Given the description of an element on the screen output the (x, y) to click on. 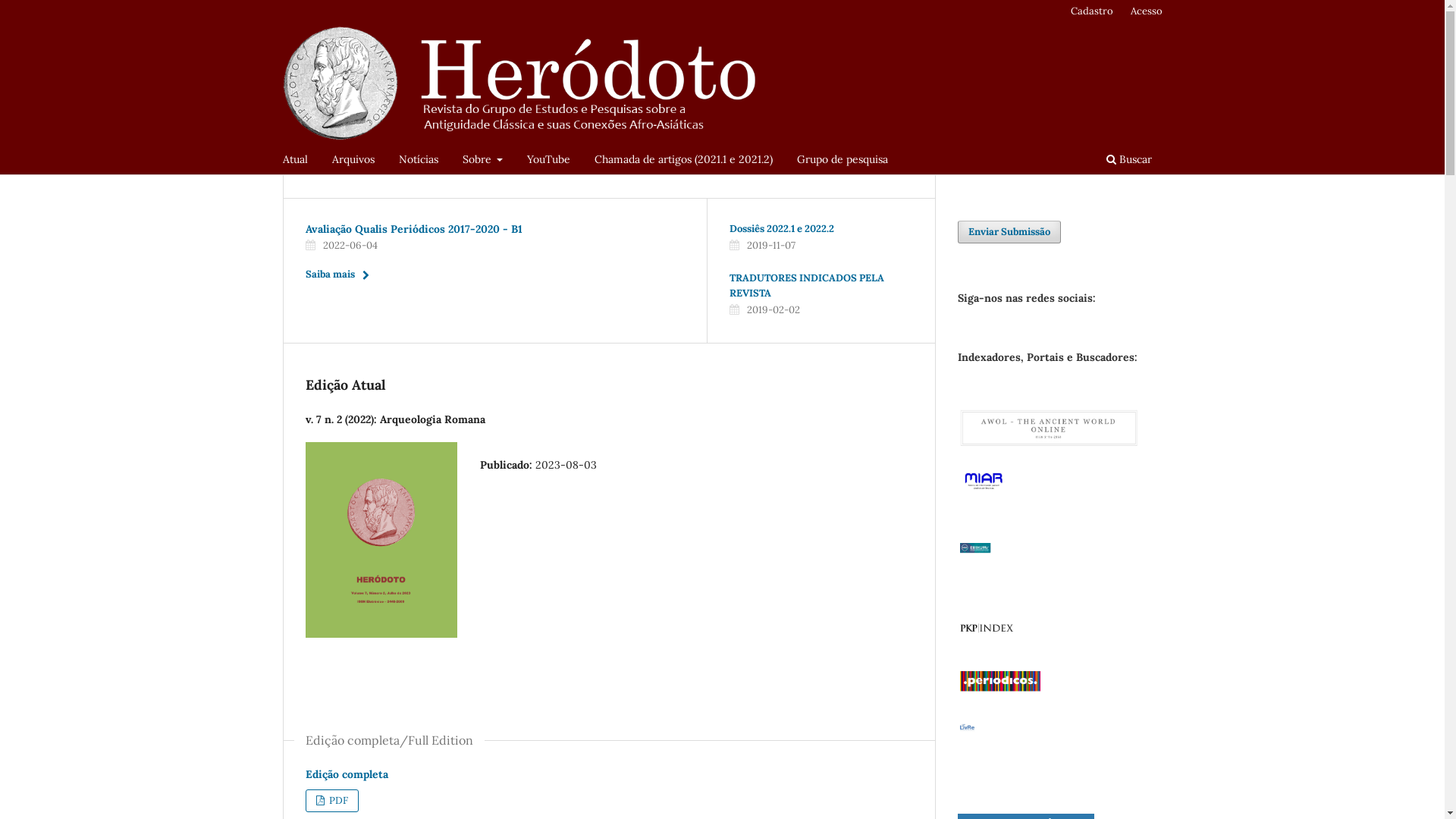
Sobre Element type: text (482, 160)
Grupo de pesquisa Element type: text (842, 160)
TRADUTORES INDICADOS PELA REVISTA Element type: text (806, 285)
Buscar Element type: text (1129, 160)
Acesso Element type: text (1146, 11)
Atual Element type: text (295, 160)
YouTube Element type: text (548, 160)
PDF Element type: text (330, 800)
Arquivos Element type: text (352, 160)
Cadastro Element type: text (1091, 11)
Chamada de artigos (2021.1 e 2021.2) Element type: text (683, 160)
Saiba mais Element type: text (340, 274)
